Given the description of an element on the screen output the (x, y) to click on. 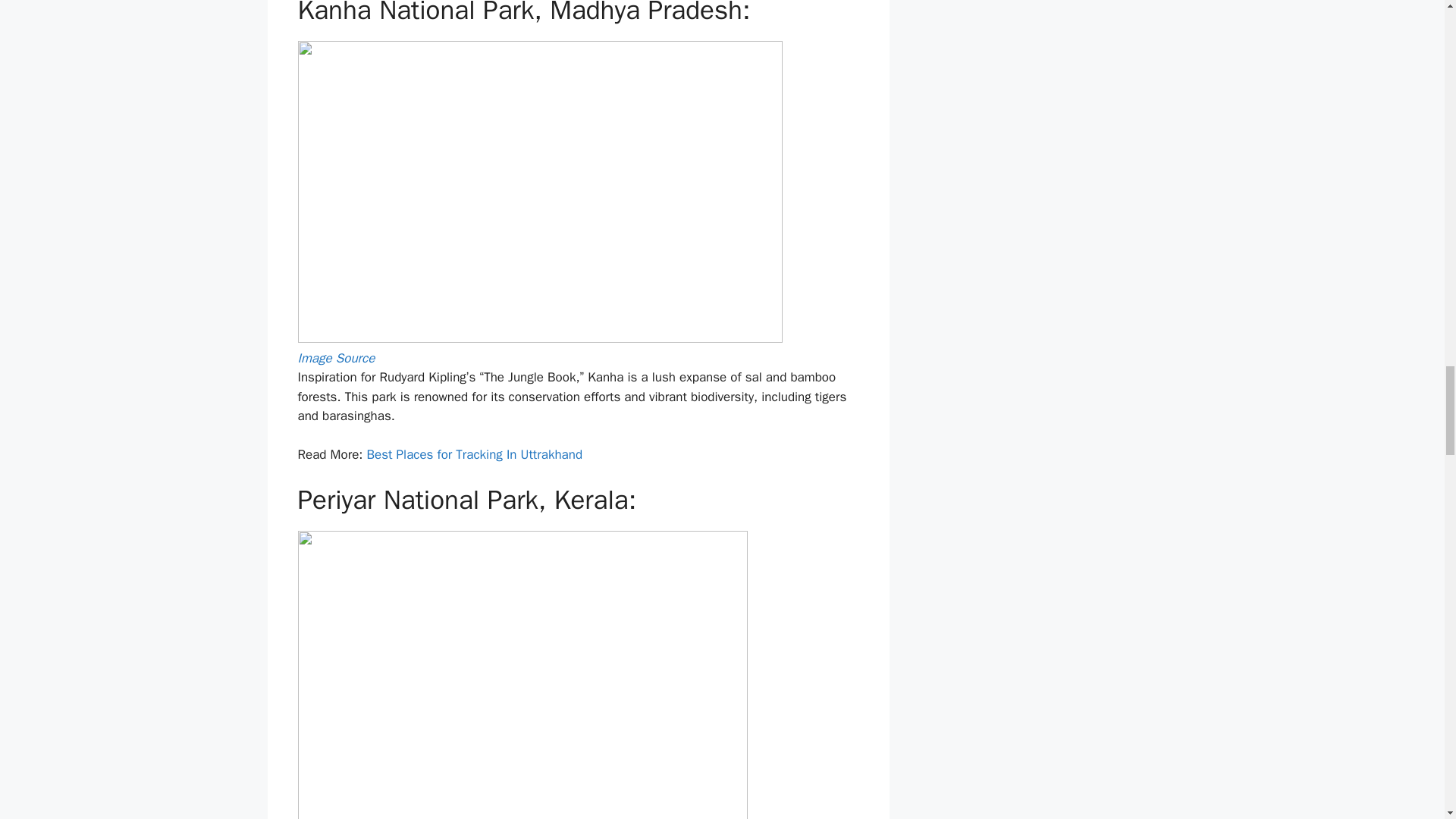
Image Source (335, 358)
Best Places for Tracking In Uttrakhand (474, 454)
